Given the description of an element on the screen output the (x, y) to click on. 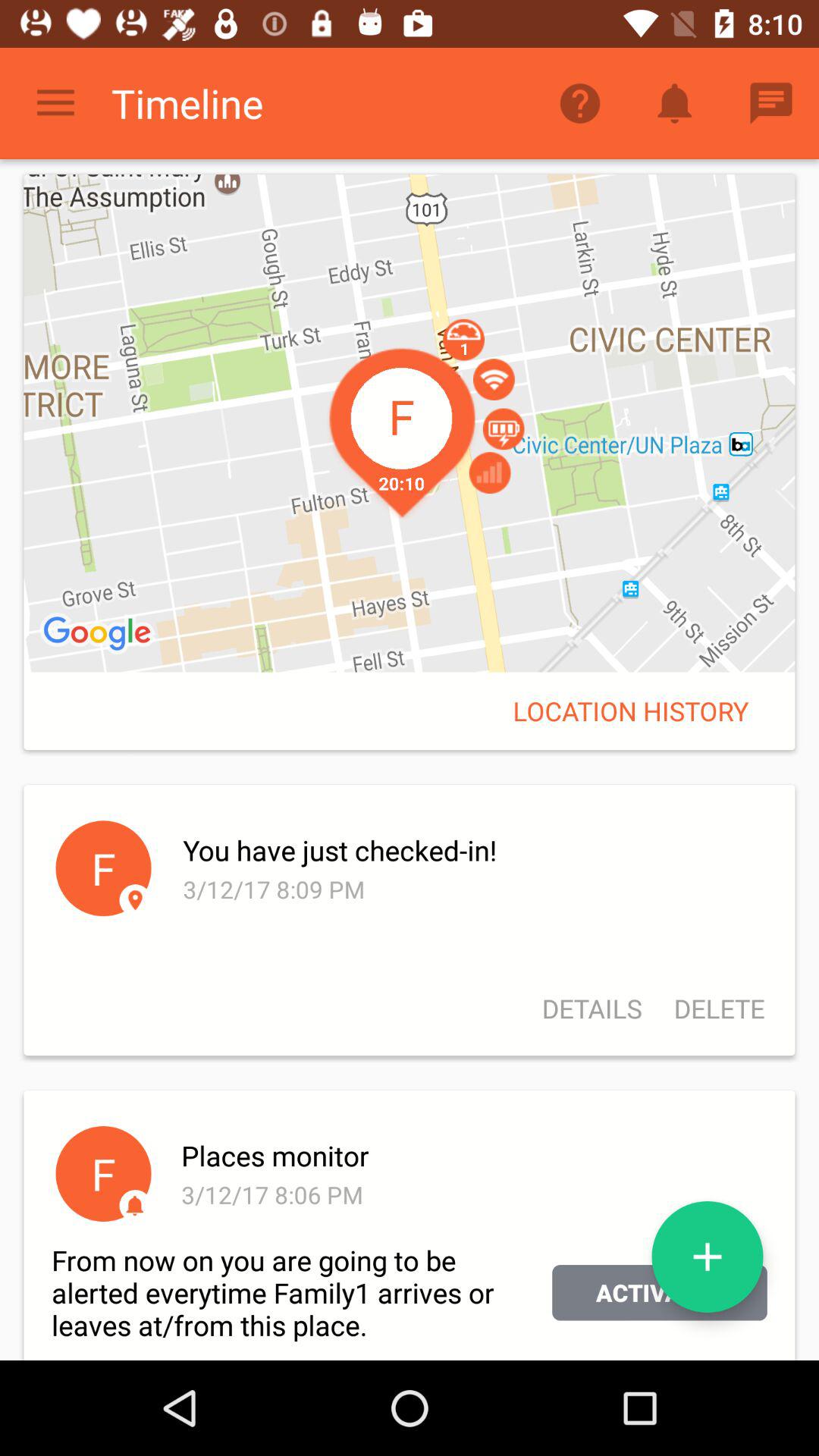
turn on item to the left of the timeline icon (55, 103)
